Given the description of an element on the screen output the (x, y) to click on. 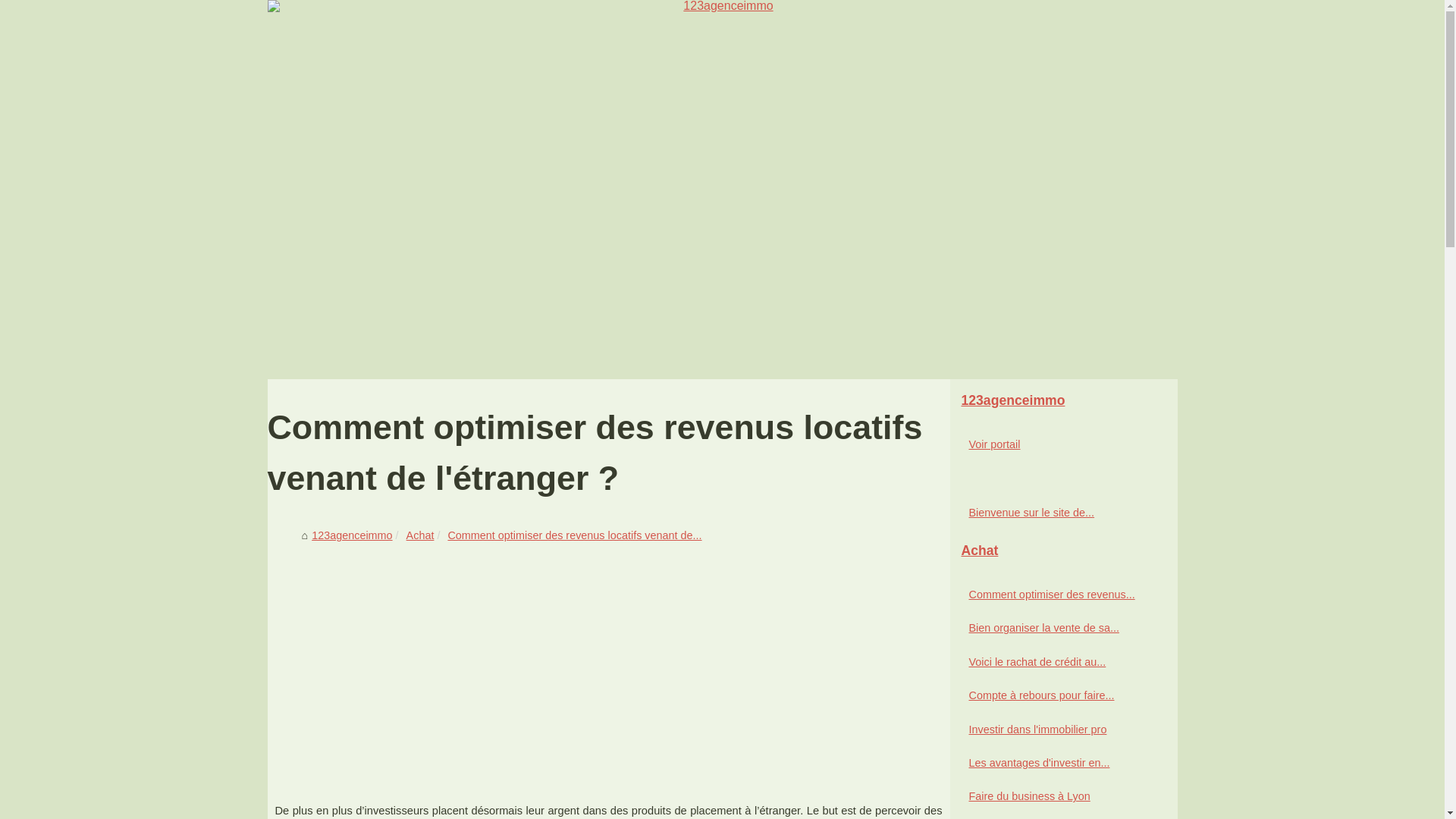
123agenceimmo Element type: text (351, 535)
Bien organiser la vente de sa... Element type: text (1055, 627)
Comment optimiser des revenus locatifs venant de... Element type: text (574, 535)
Achat Element type: text (420, 535)
Investir dans l'immobilier pro Element type: text (1055, 729)
Voir portail Element type: text (1055, 444)
123agenceimmo Element type: hover (721, 189)
123agenceimmo Element type: text (1063, 400)
Bienvenue sur le site de... Element type: text (1055, 512)
Comment optimiser des revenus... Element type: text (1055, 594)
Les avantages d'investir en... Element type: text (1055, 762)
Achat Element type: text (1063, 550)
